Given the description of an element on the screen output the (x, y) to click on. 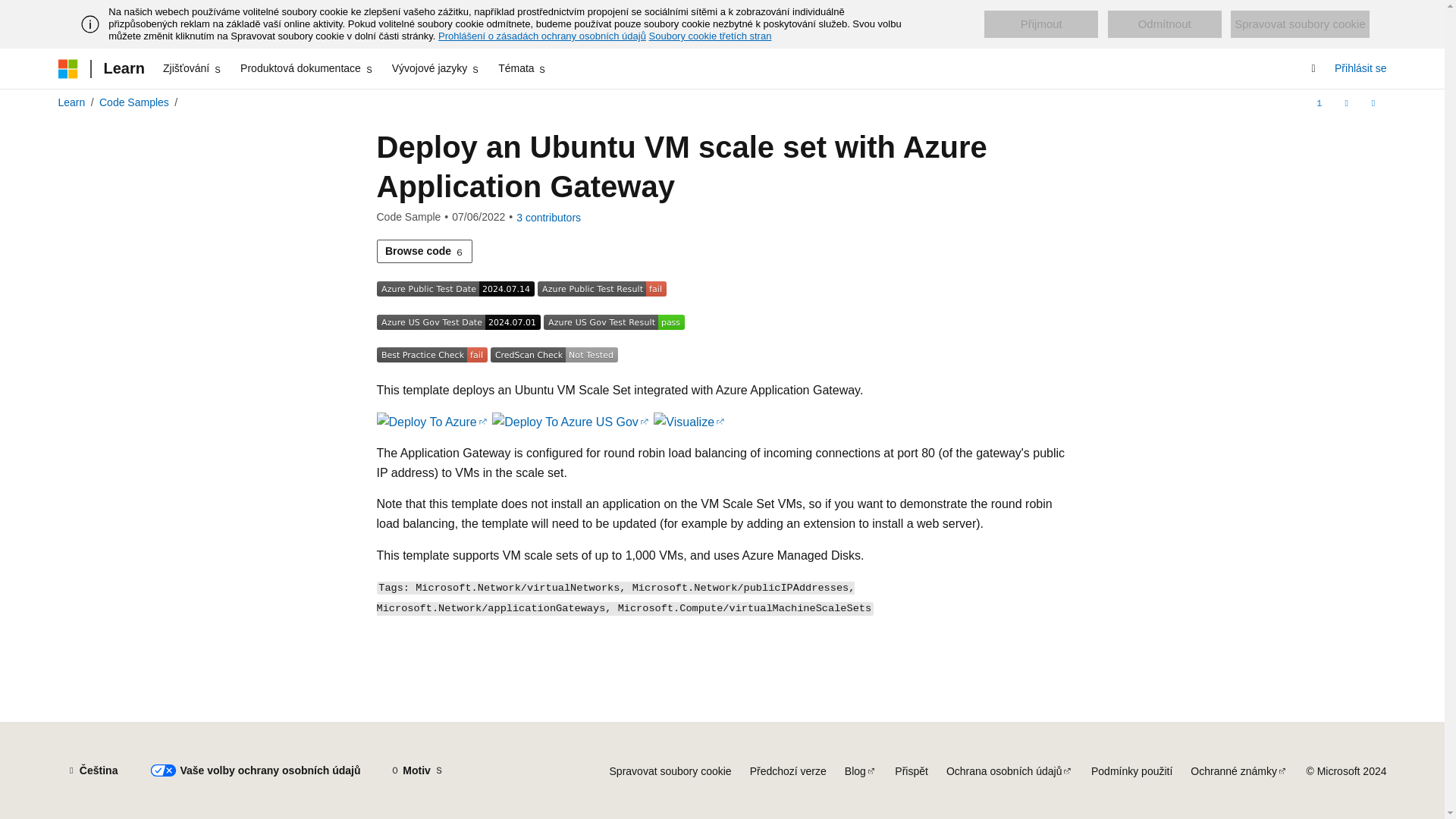
Motiv (416, 770)
Learn (123, 68)
View all contributors (548, 217)
Spravovat soubory cookie (1300, 23)
Code Samples (133, 102)
Learn (71, 102)
